Given the description of an element on the screen output the (x, y) to click on. 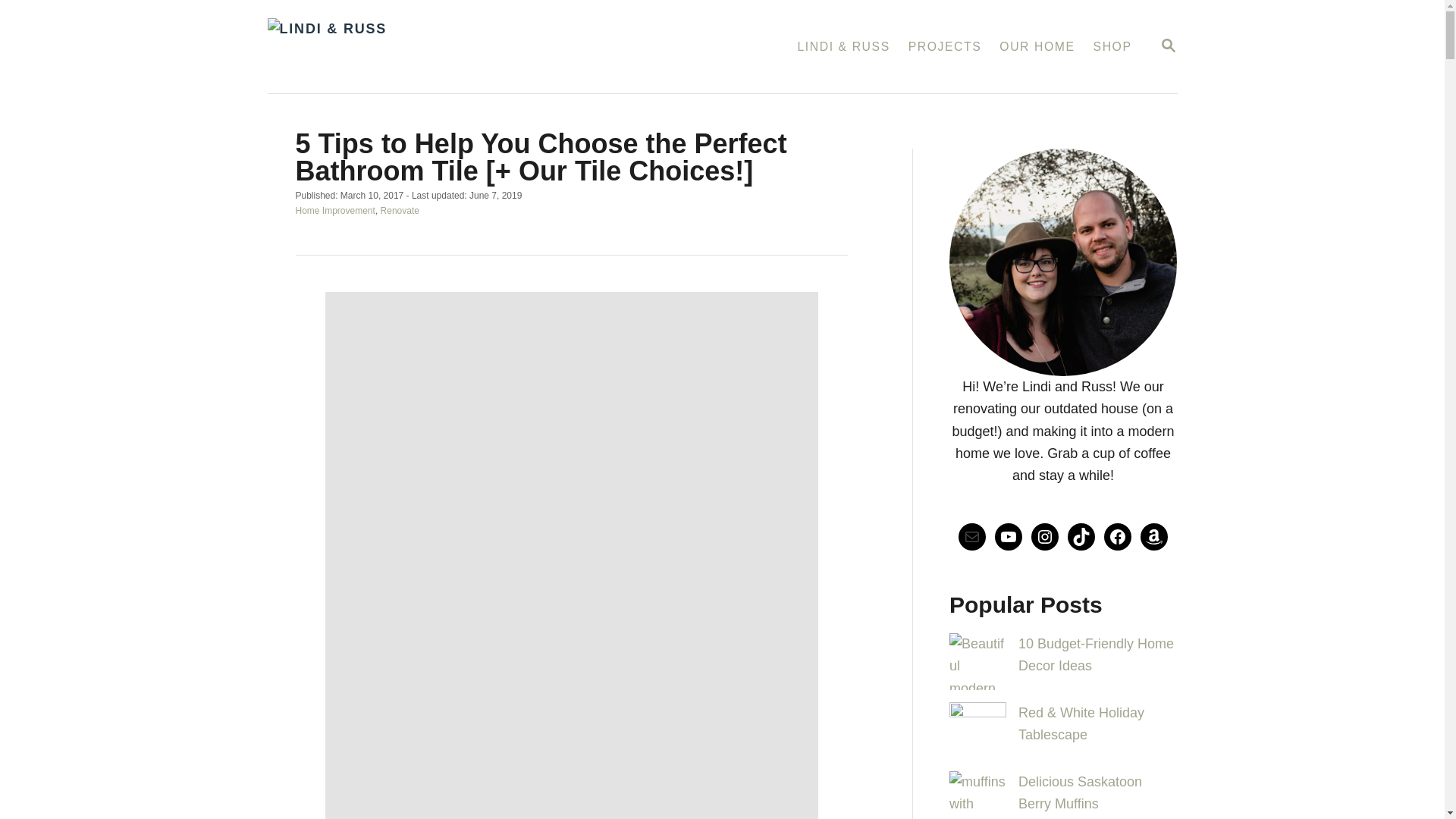
MAGNIFYING GLASS (1167, 45)
Renovate (1168, 46)
SHOP (399, 209)
Home Improvement (1112, 46)
OUR HOME (335, 209)
PROJECTS (1036, 46)
